Given the description of an element on the screen output the (x, y) to click on. 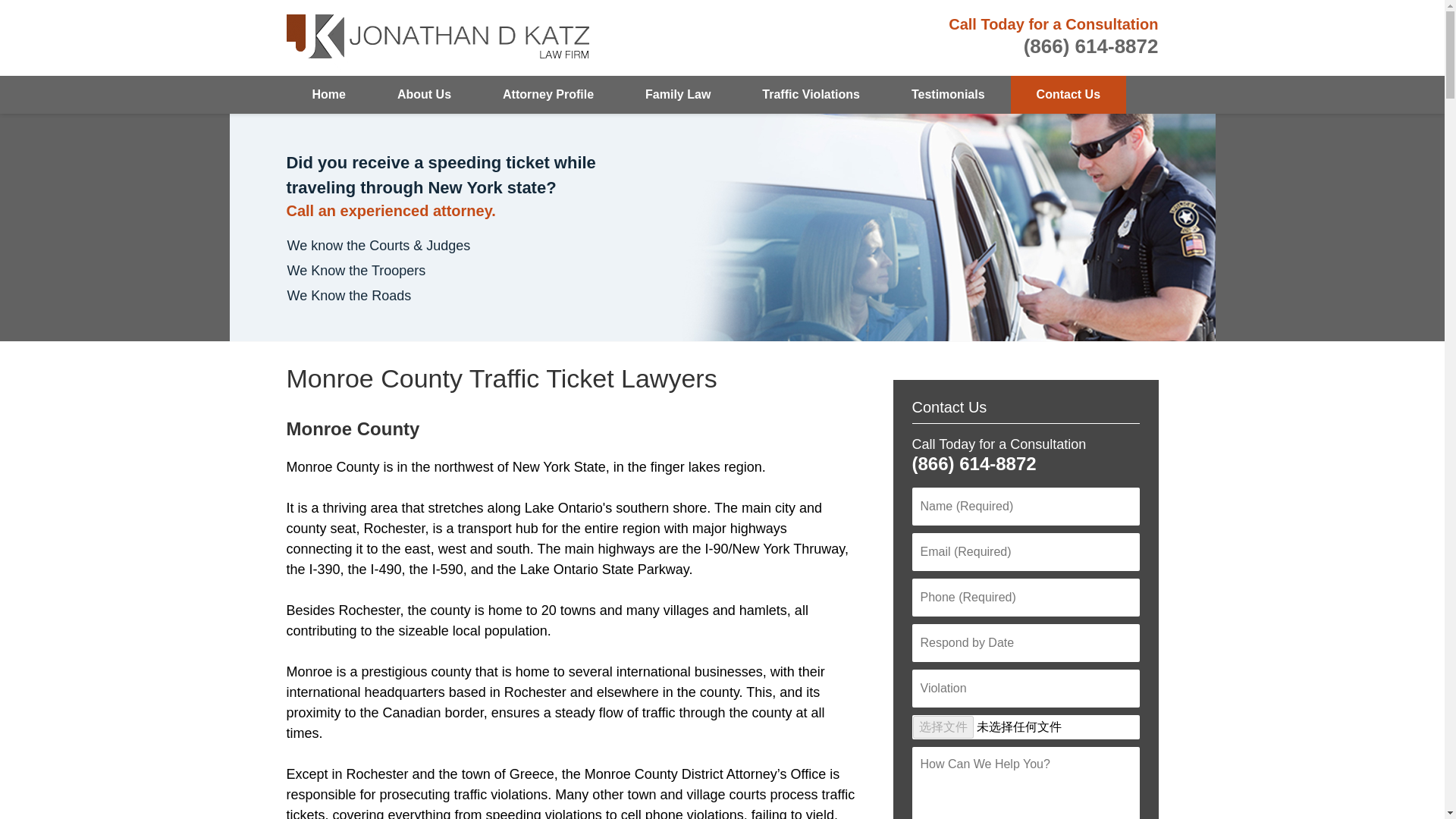
Back to Home (437, 38)
Contact Us (1067, 94)
Jonathan D. Katz Home (437, 38)
Contact Us (949, 406)
Home (328, 94)
Family Law (678, 94)
Attorney Profile (548, 94)
Traffic Violations (810, 94)
Testimonials (947, 94)
About Us (424, 94)
